Given the description of an element on the screen output the (x, y) to click on. 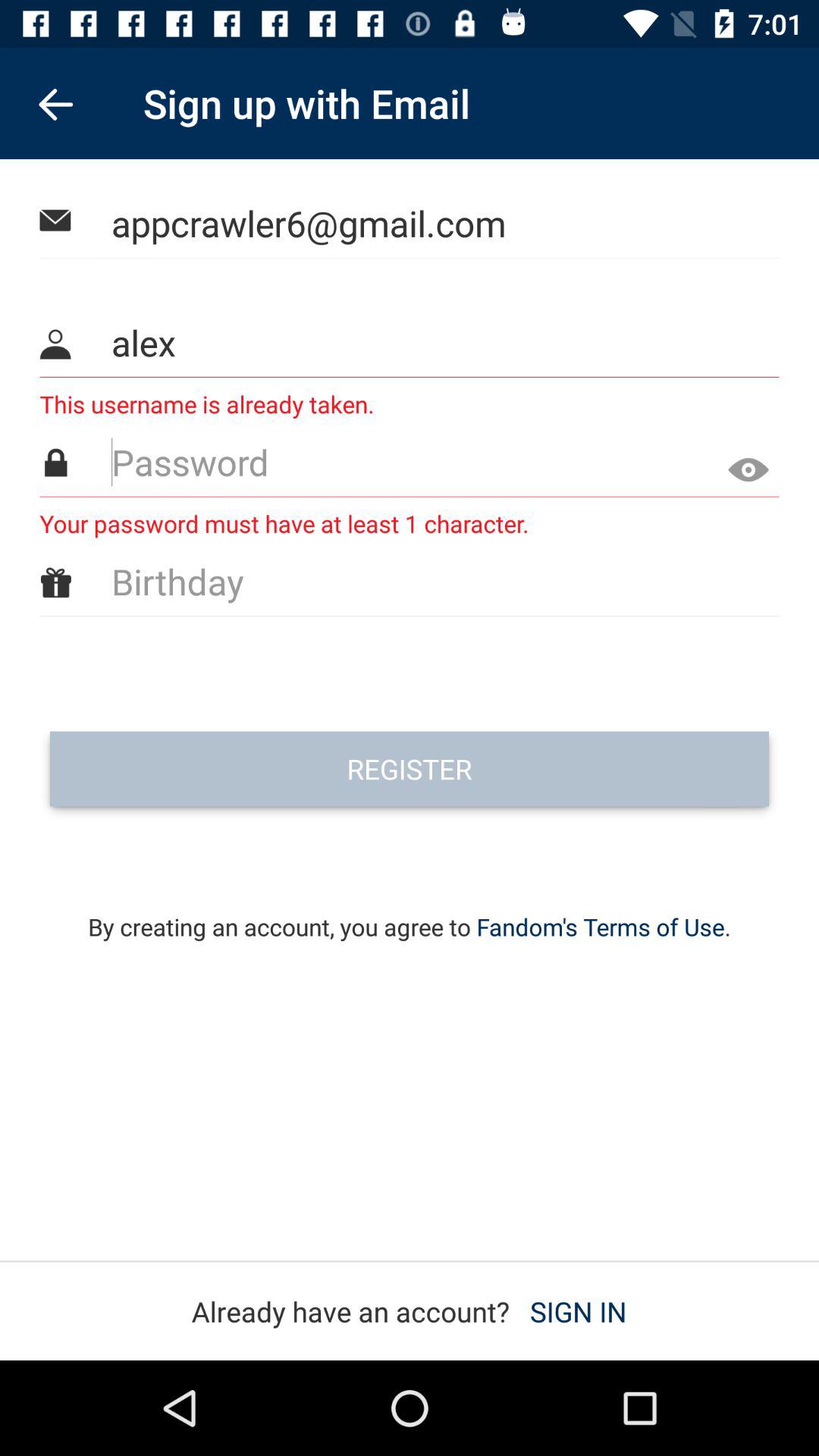
open the icon above the by creating an (409, 768)
